Given the description of an element on the screen output the (x, y) to click on. 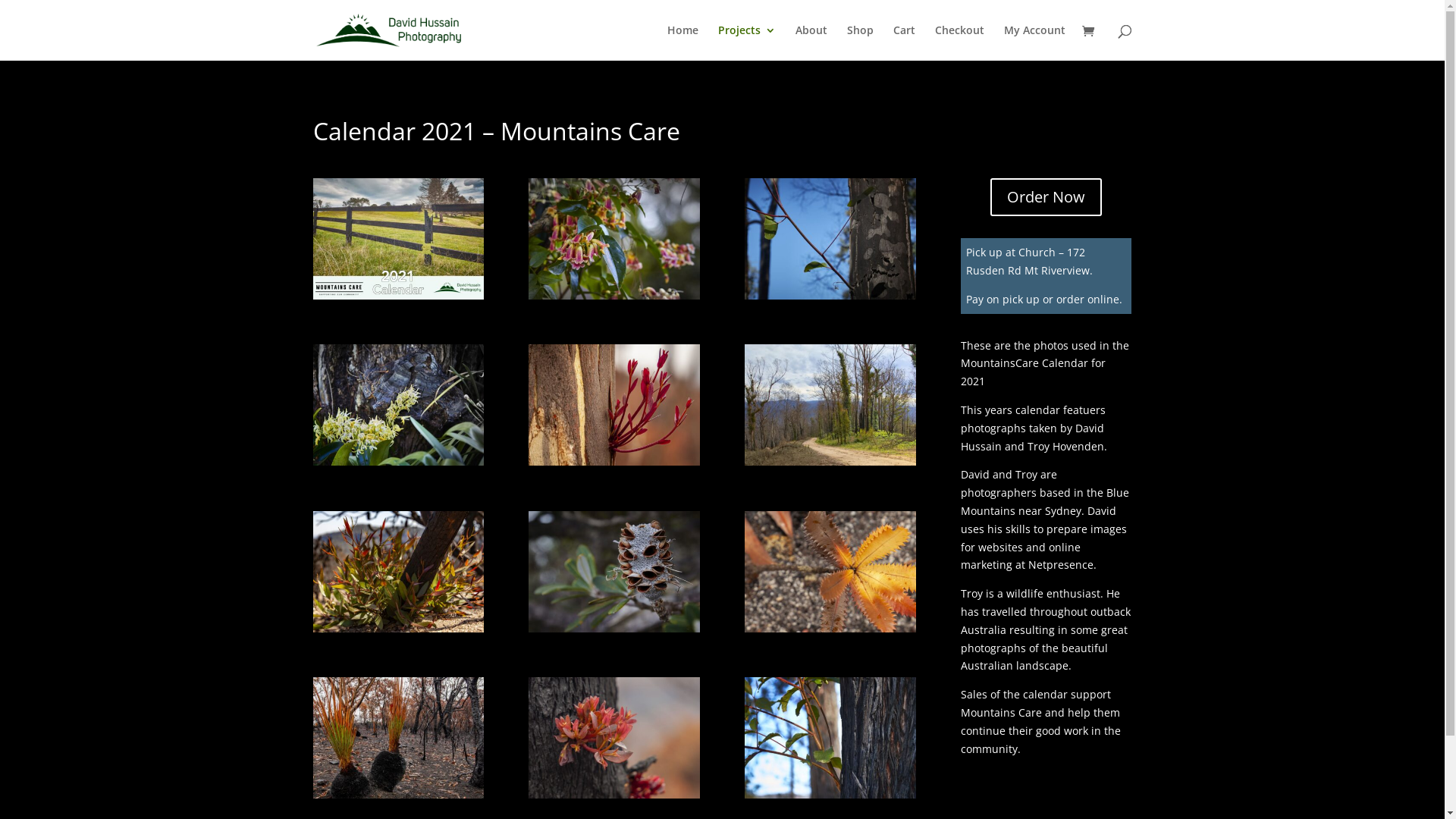
About Element type: text (810, 42)
Home Element type: text (682, 42)
04_Apr-1280 Element type: hover (829, 628)
Cart Element type: text (904, 42)
Order Now Element type: text (1045, 197)
08_Aug-1280 Element type: hover (829, 461)
05_May-1280 Element type: hover (613, 628)
01_Jan-1280 Element type: hover (829, 794)
09_Sep-1280 Element type: hover (613, 461)
10_Oct-1280 Element type: hover (397, 461)
Projects Element type: text (746, 42)
Cover2020a Element type: hover (397, 295)
07_Jul-1280 Element type: hover (397, 628)
Checkout Element type: text (958, 42)
11_Nov-1280 Element type: hover (829, 295)
My Account Element type: text (1034, 42)
12_Dec-1280 Element type: hover (613, 295)
03_Mar-1280 Element type: hover (397, 794)
Shop Element type: text (859, 42)
02_Feb-1280 Element type: hover (613, 794)
